Given the description of an element on the screen output the (x, y) to click on. 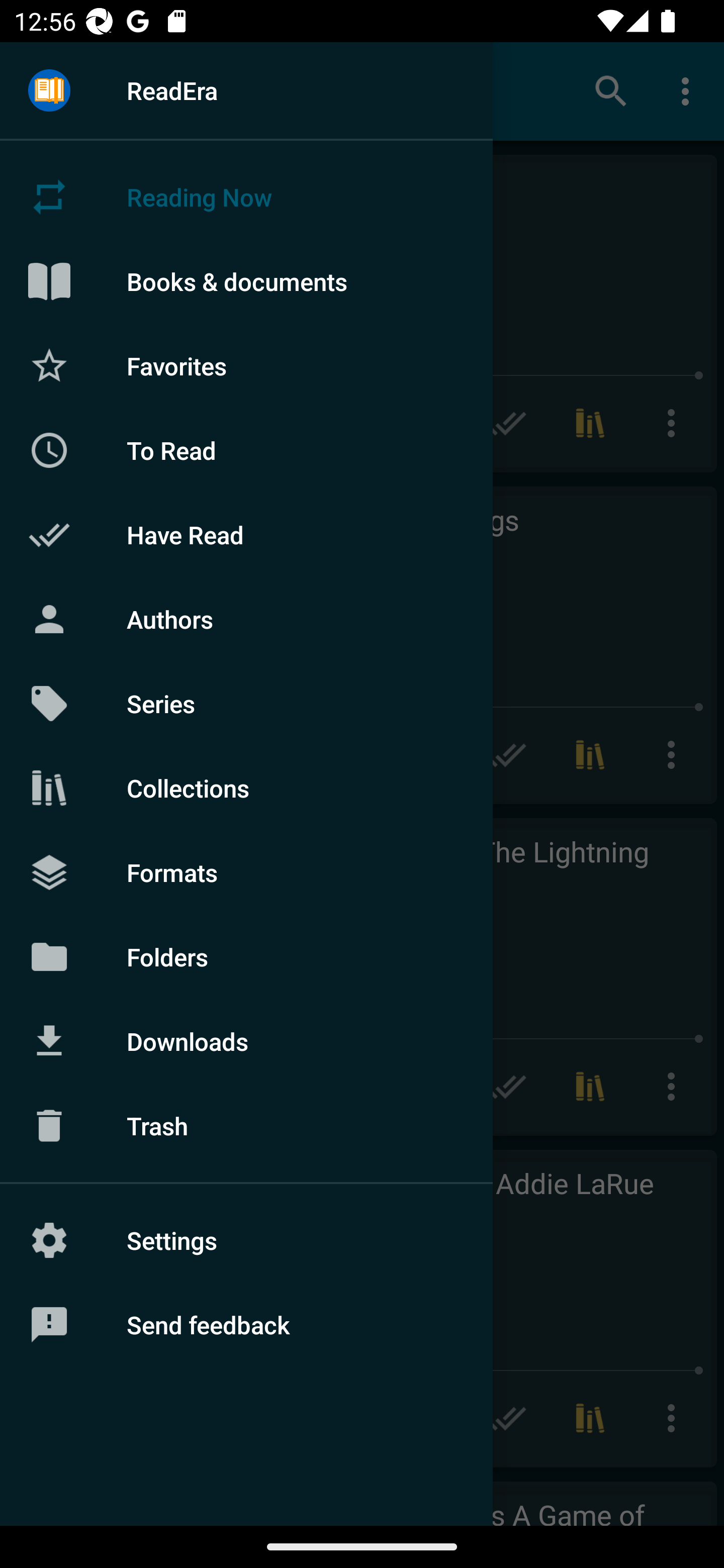
Menu (49, 91)
ReadEra (246, 89)
Search books & documents (611, 90)
More options (688, 90)
Reading Now (246, 197)
Books & documents (246, 281)
Favorites (246, 365)
To Read (246, 449)
Have Read (246, 534)
Authors (246, 619)
Series (246, 703)
Collections (246, 787)
Formats (246, 871)
Folders (246, 956)
Downloads (246, 1040)
Trash (246, 1125)
Settings (246, 1239)
Send feedback (246, 1324)
